Given the description of an element on the screen output the (x, y) to click on. 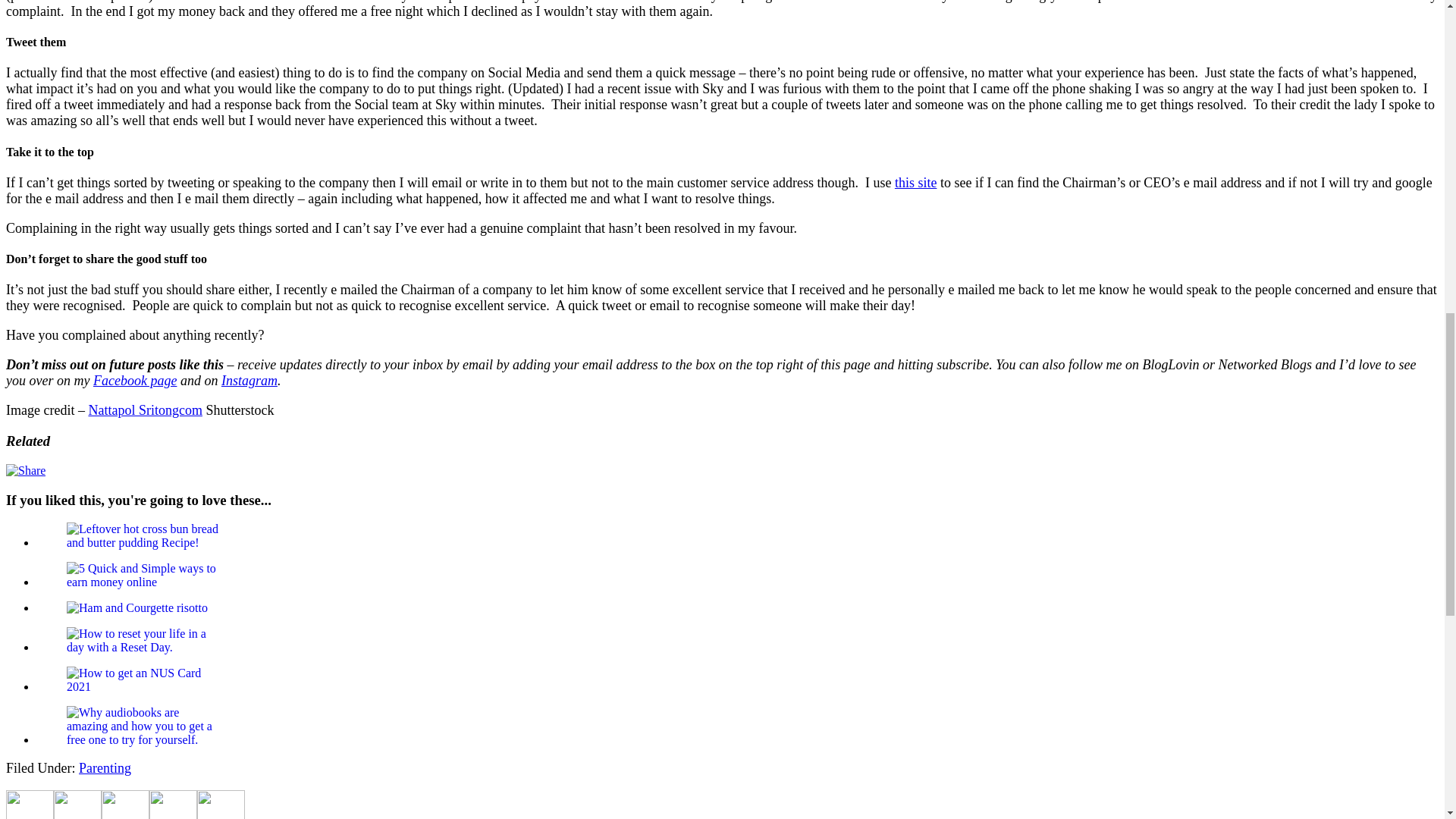
Facebook page (134, 380)
Hot Cross Bun Bread and Butter Pudding.... (142, 535)
Instagram (249, 380)
5 Quick and Simple ways to earn money online... (142, 574)
Ham and Courgette Risotto... (137, 608)
Have a Reset Day and reset your life... (142, 640)
this site (916, 182)
Nattapol Sritongcom (144, 409)
